Given the description of an element on the screen output the (x, y) to click on. 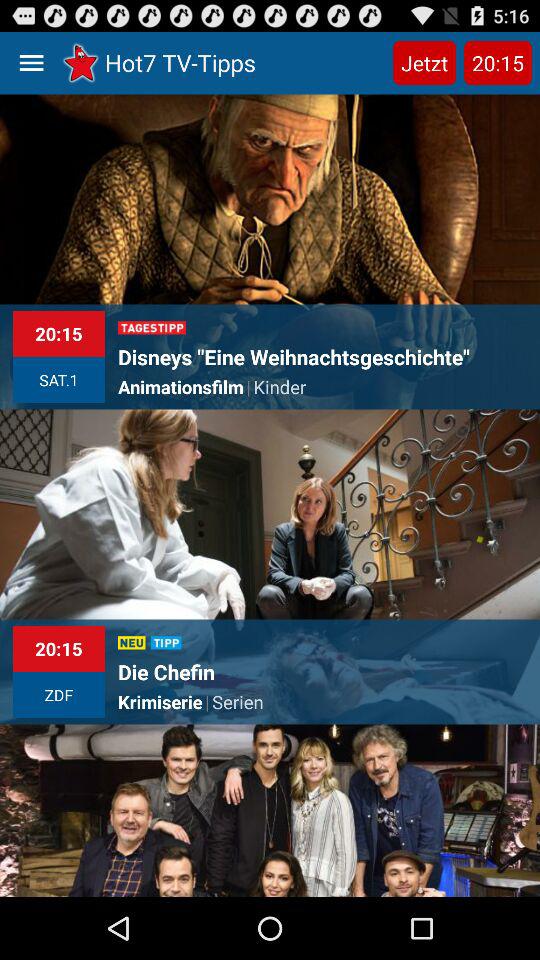
jump to the jetzt item (424, 62)
